Given the description of an element on the screen output the (x, y) to click on. 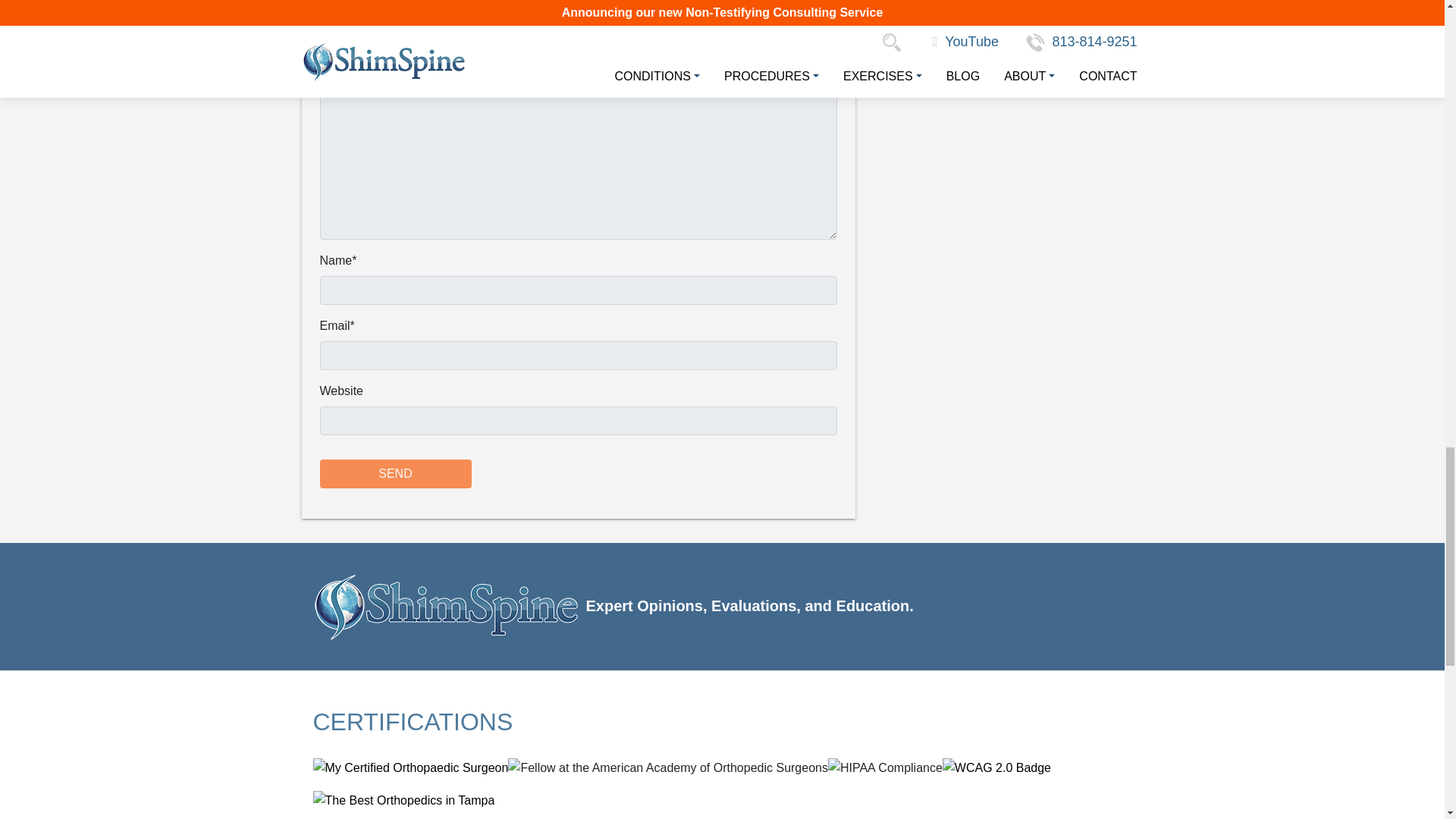
Send (395, 473)
